Given the description of an element on the screen output the (x, y) to click on. 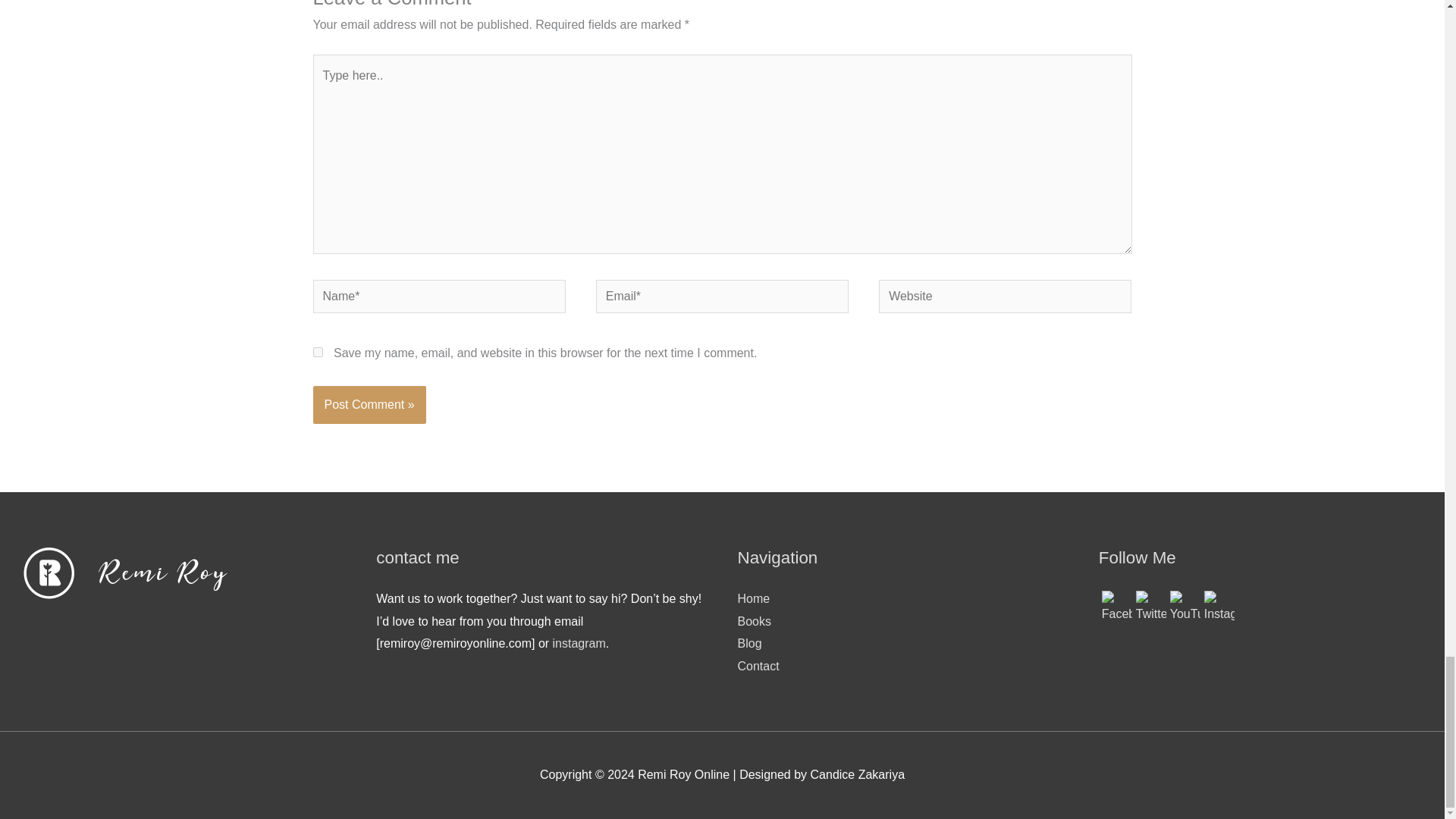
Blog (748, 643)
Home (753, 598)
yes (317, 352)
instagram (579, 643)
Contact (757, 666)
Books (753, 621)
